Given the description of an element on the screen output the (x, y) to click on. 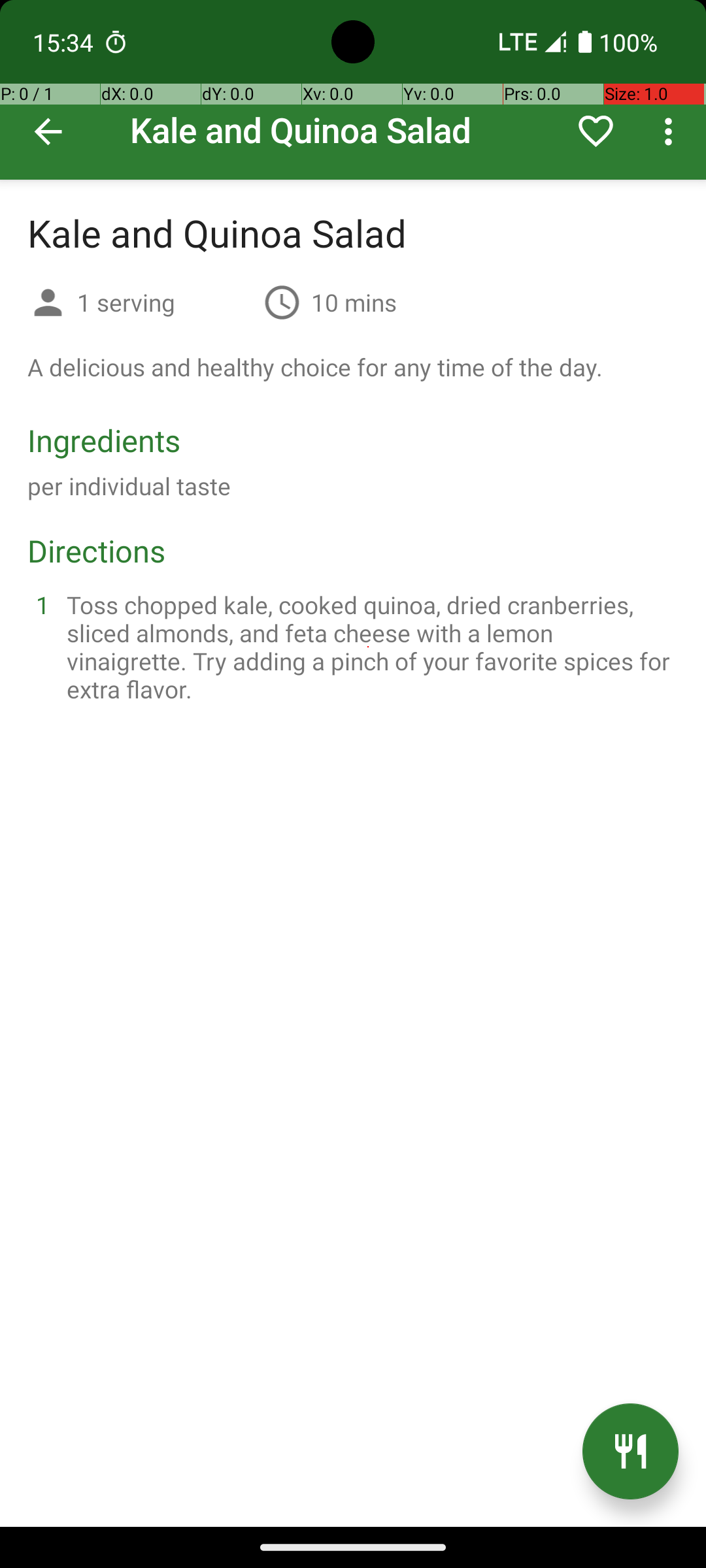
Toss chopped kale, cooked quinoa, dried cranberries, sliced almonds, and feta cheese with a lemon vinaigrette. Try adding a pinch of your favorite spices for extra flavor. Element type: android.widget.TextView (368, 646)
